Given the description of an element on the screen output the (x, y) to click on. 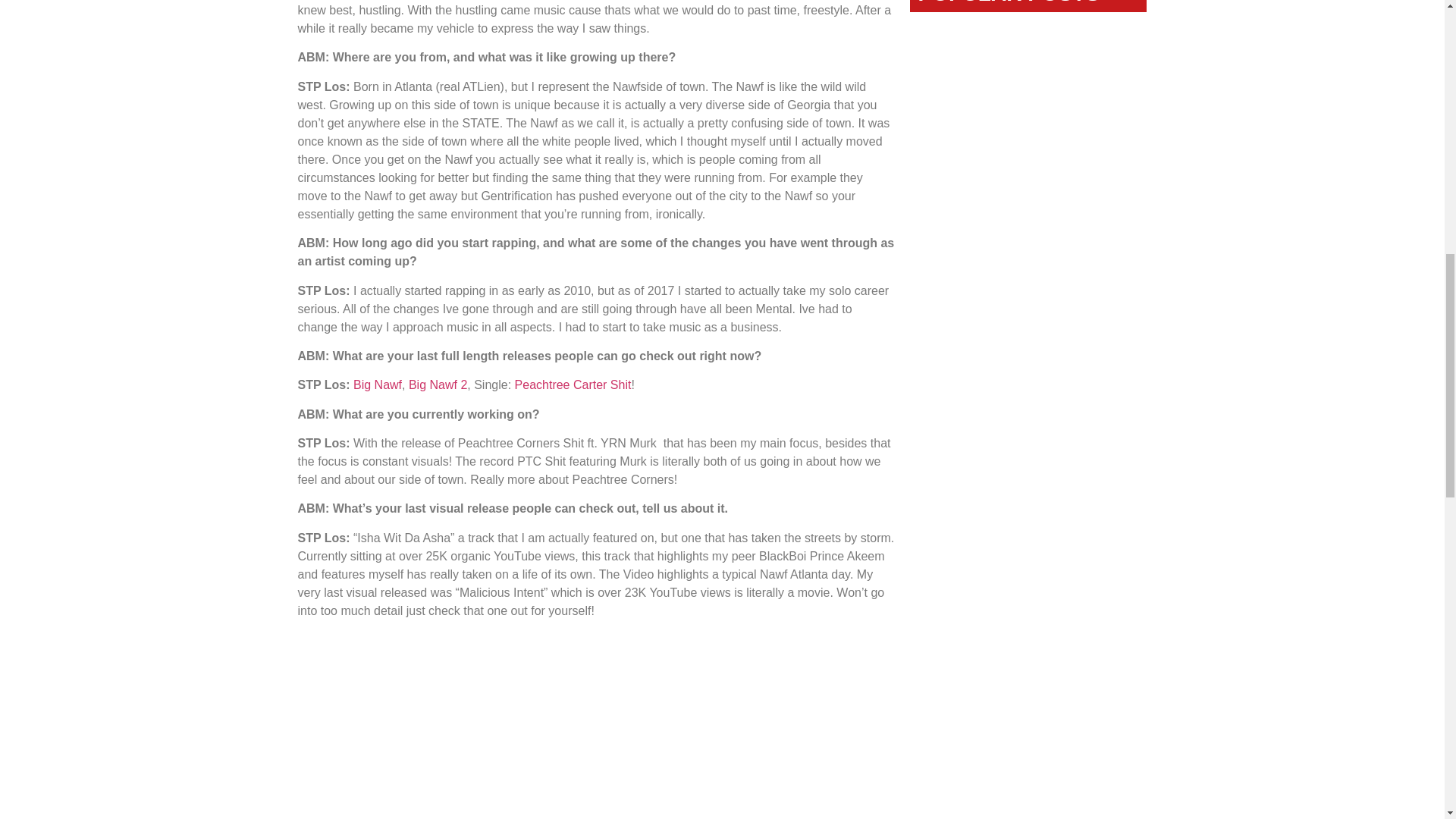
Big Nawf (377, 384)
Peachtree Carter Shit (573, 384)
Big Nawf 2 (438, 384)
